Given the description of an element on the screen output the (x, y) to click on. 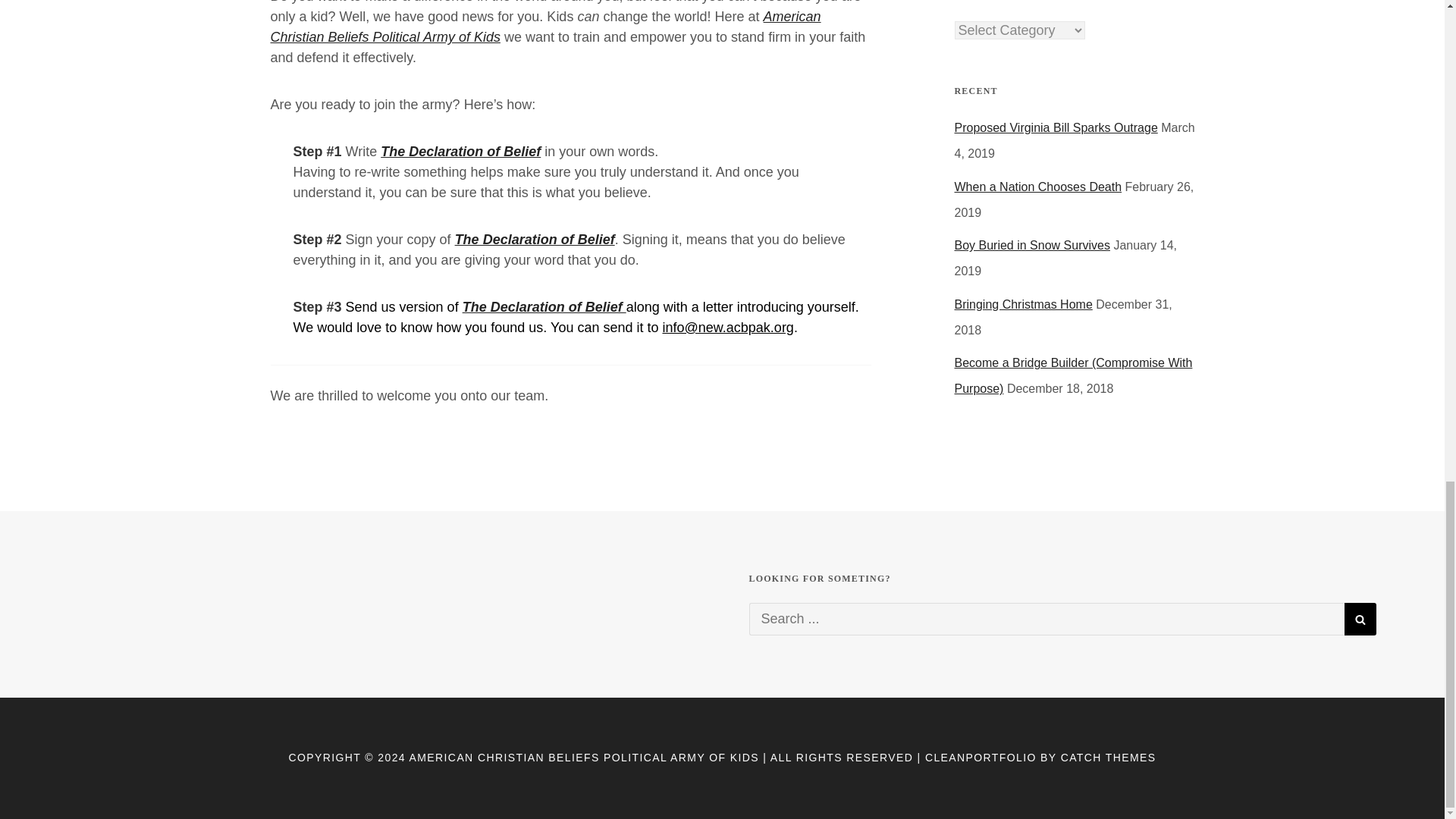
Proposed Virginia Bill Sparks Outrage (1055, 127)
American Christian Beliefs Political Army of Kids (545, 27)
The Declaration of Belief (460, 151)
CATCH THEMES (1108, 757)
When a Nation Chooses Death (1037, 186)
The Declaration of Belief (544, 306)
Boy Buried in Snow Survives (1031, 245)
The Declaration of Belief (534, 239)
SEARCH (1359, 618)
Bringing Christmas Home (1022, 304)
AMERICAN CHRISTIAN BELIEFS POLITICAL ARMY OF KIDS (583, 757)
